Given the description of an element on the screen output the (x, y) to click on. 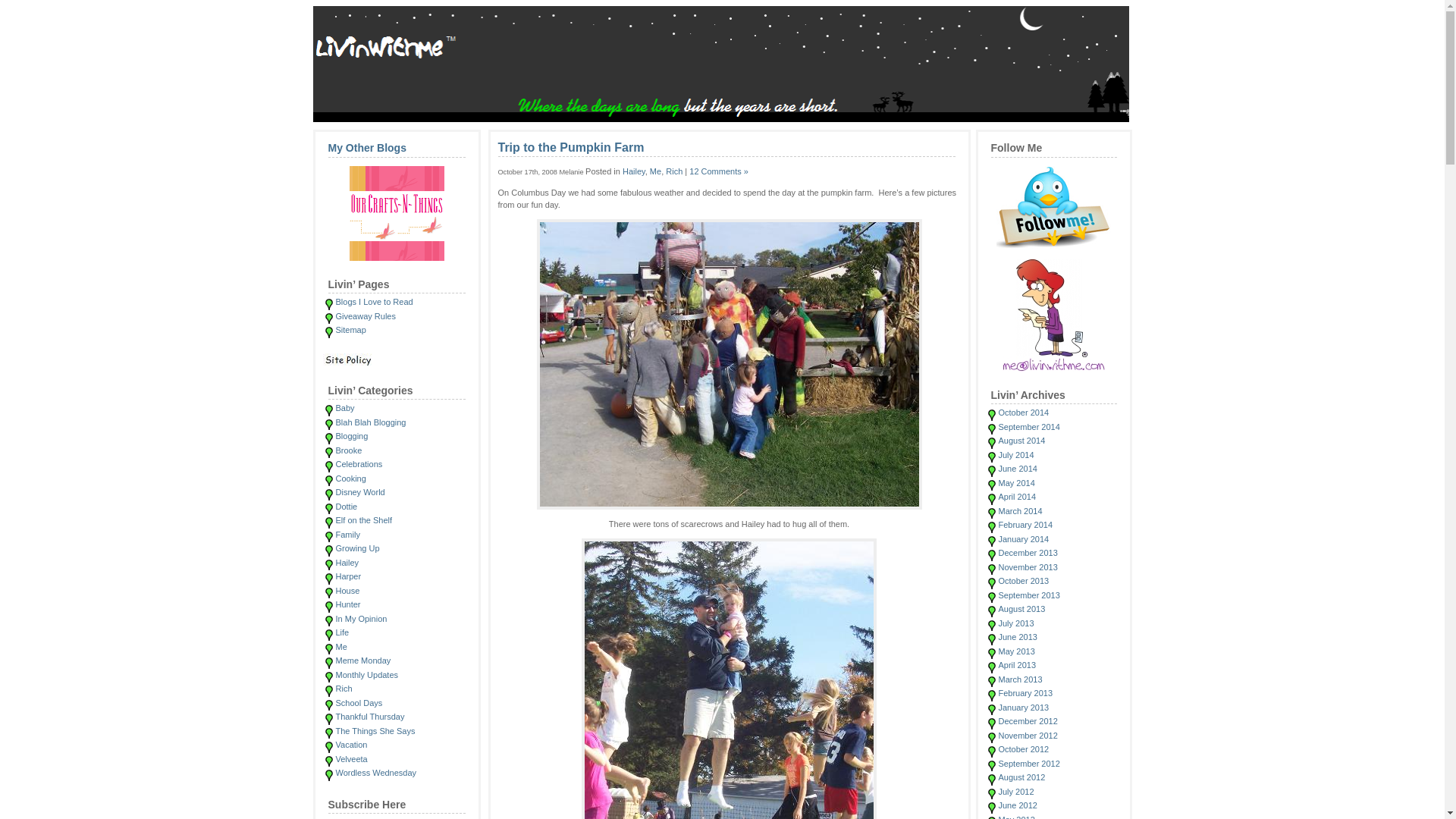
Wordless Wednesday (375, 772)
Brooke (347, 450)
Giveaway Rules (364, 315)
Growing Up (356, 547)
Blogging (351, 435)
Vacation (350, 744)
My Other Blogs (396, 148)
The Things She Says (374, 730)
Celebrations (357, 463)
View all posts filed under Hailey (346, 562)
View all posts filed under Dottie (345, 506)
View all posts filed under Baby (343, 407)
House (346, 589)
Sitemap (349, 329)
Blah Blah Blogging (370, 420)
